Given the description of an element on the screen output the (x, y) to click on. 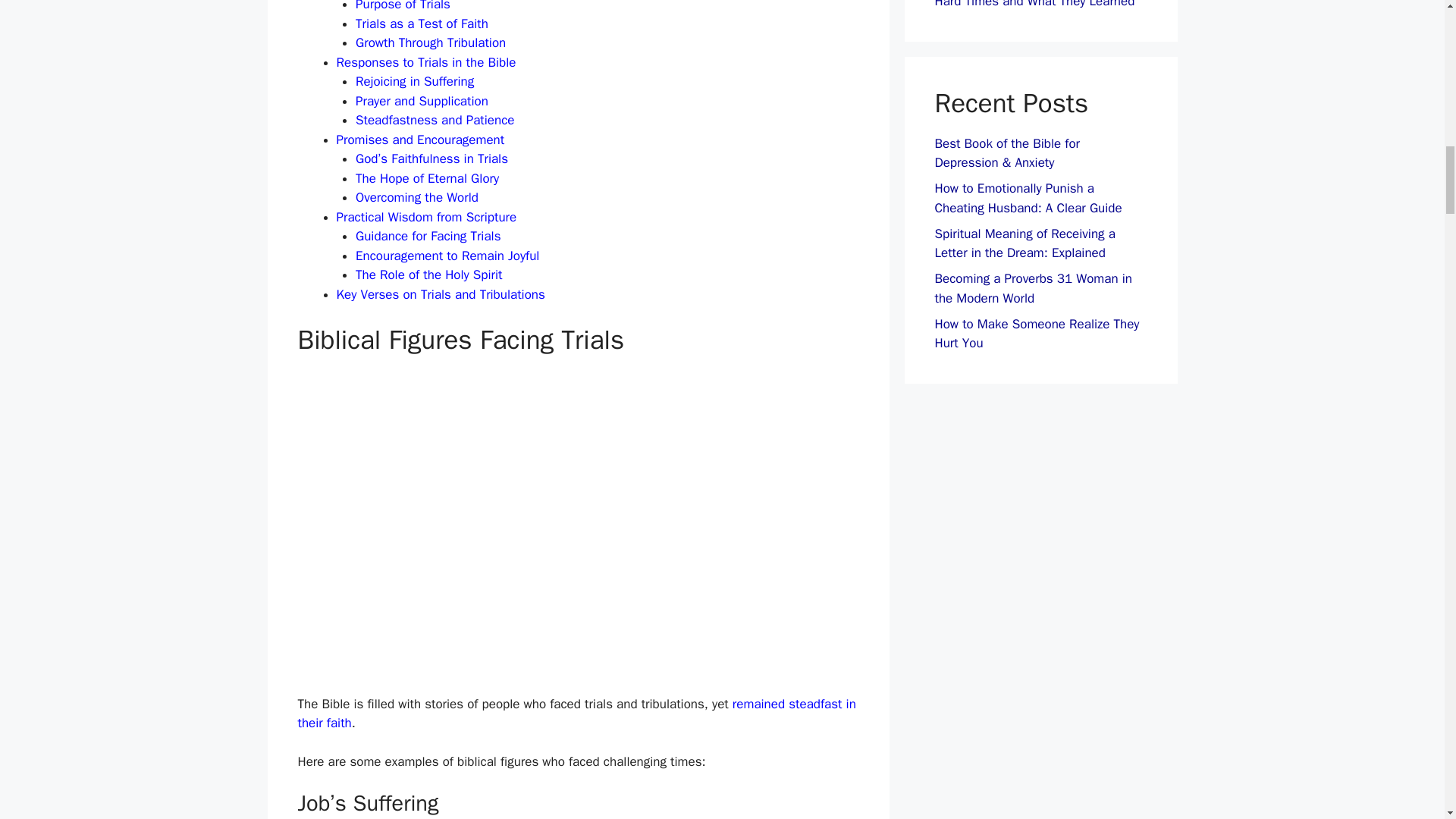
Purpose of Trials (402, 6)
